Given the description of an element on the screen output the (x, y) to click on. 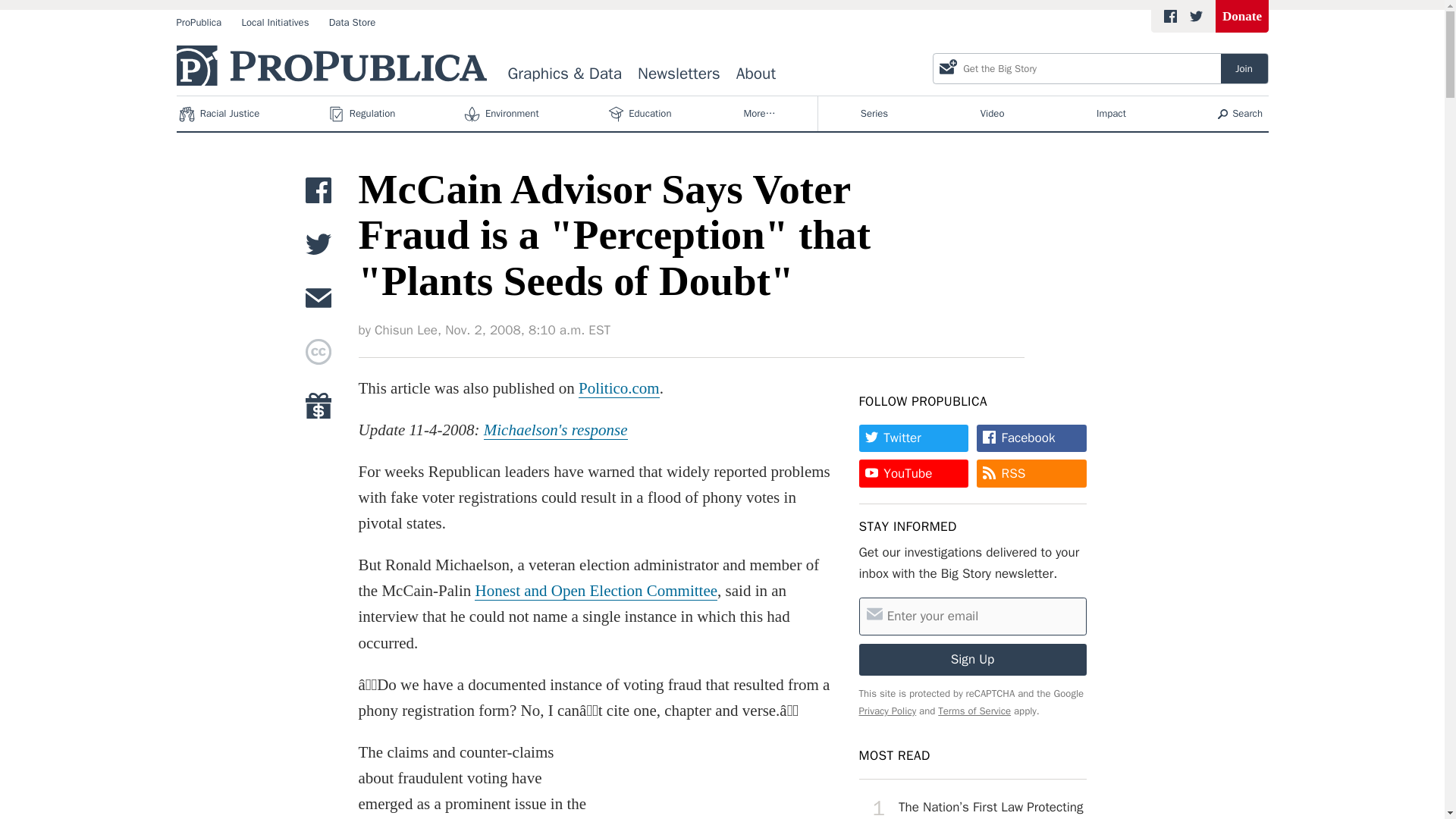
Search (1240, 113)
Newsletters (679, 74)
Politico.com (618, 388)
Honest and Open Election Committee (595, 590)
Donate (1241, 16)
ProPublica (198, 22)
About (755, 74)
Chisun Lee (406, 330)
Data Store (352, 22)
Series (873, 113)
Rich Site Summary (1013, 473)
Racial Justice (220, 113)
Michaelson's response (555, 429)
Education (641, 113)
View this (972, 803)
